Given the description of an element on the screen output the (x, y) to click on. 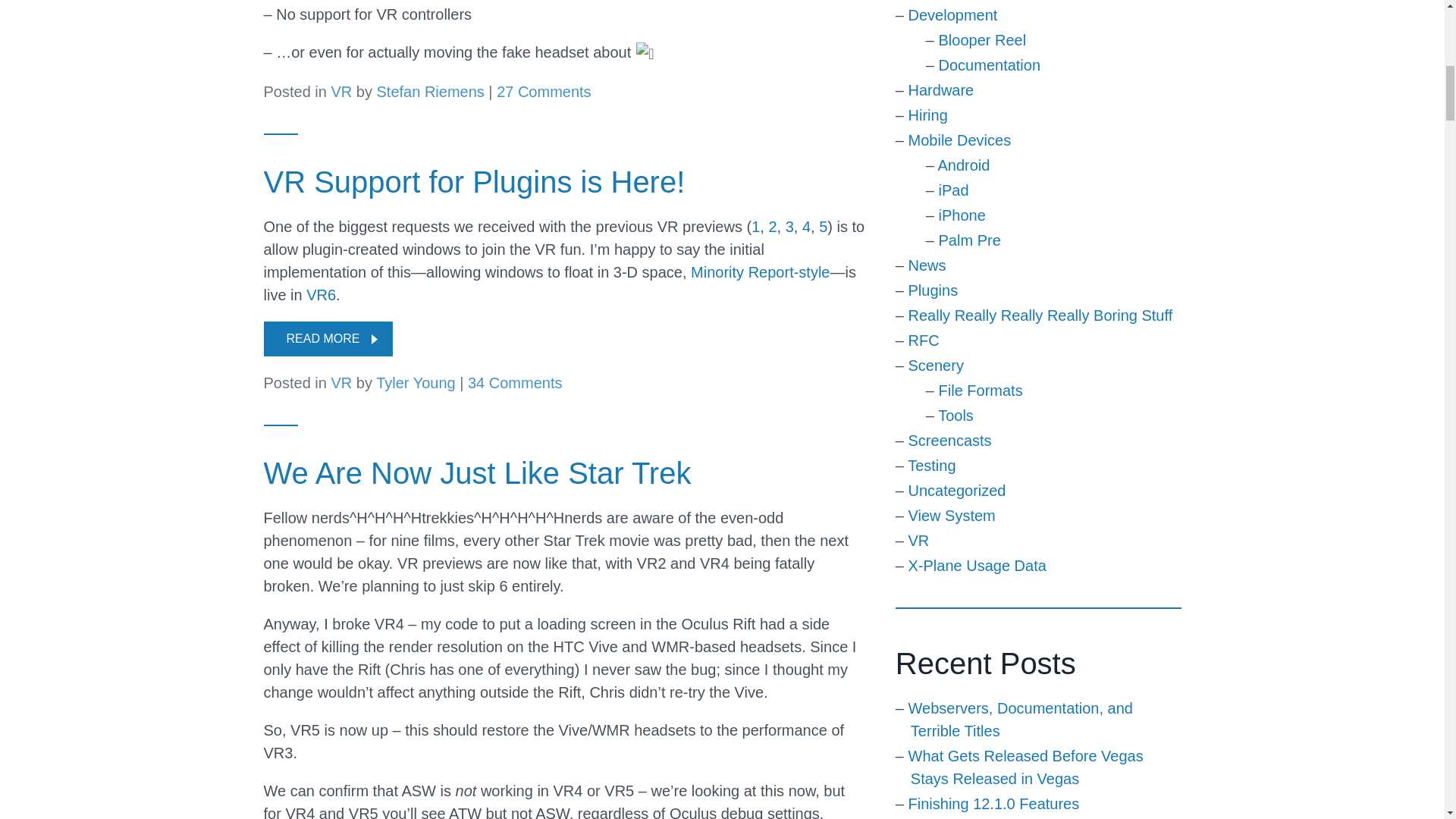
27 Comments (543, 91)
Stefan Riemens (429, 91)
VR (341, 91)
VR Support for Plugins is Here! (474, 182)
